Given the description of an element on the screen output the (x, y) to click on. 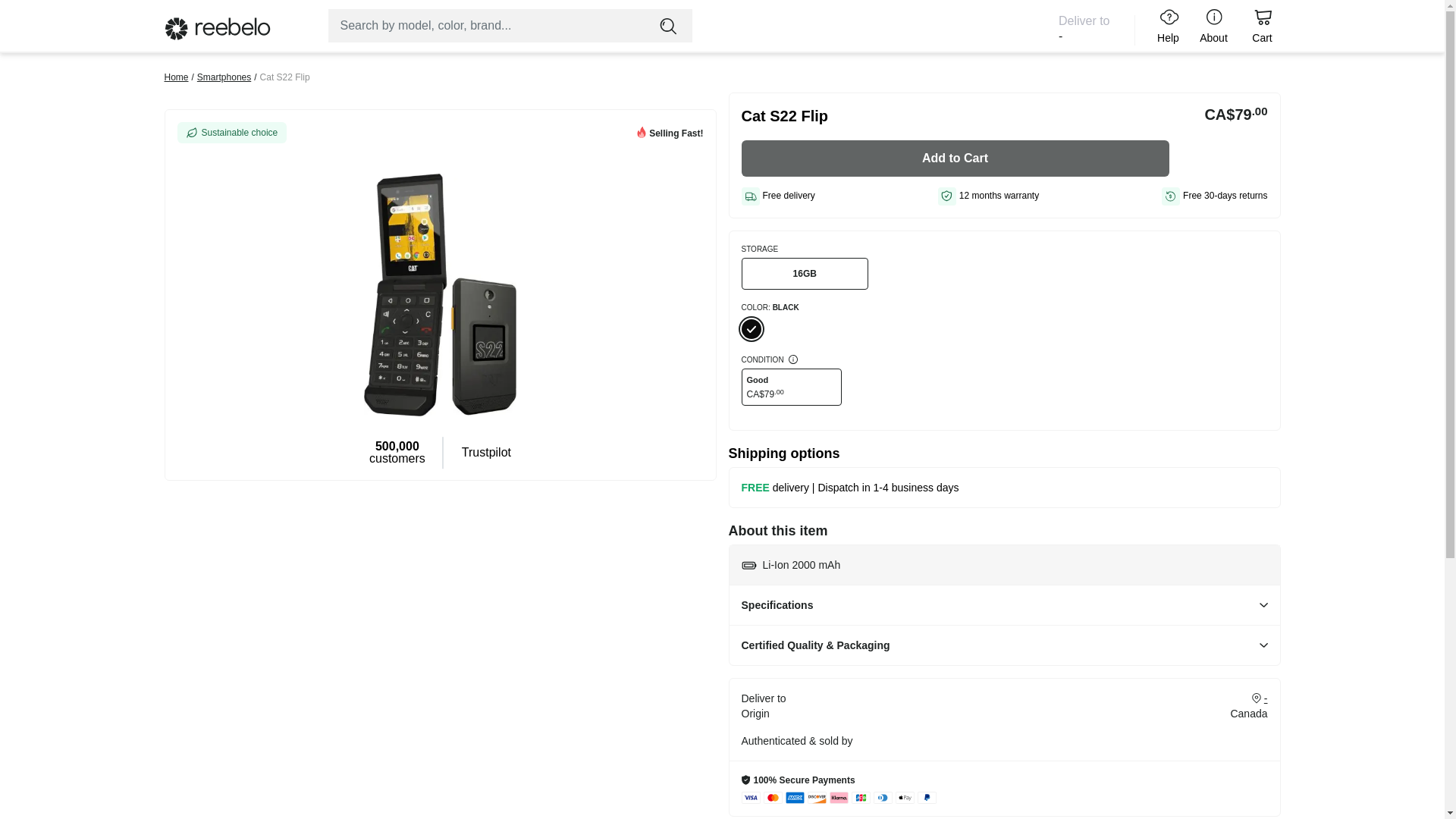
JCB (859, 797)
American Express (795, 797)
Klarna (838, 797)
About (1213, 25)
Mastercard (771, 797)
Diners Club (882, 797)
Trustpilot (486, 451)
PayPal (926, 797)
Discover (815, 797)
Add to Cart (955, 158)
Cart (1261, 25)
Visa (750, 797)
Help (1164, 25)
Smartphones (223, 77)
Appley Pay (904, 797)
